Given the description of an element on the screen output the (x, y) to click on. 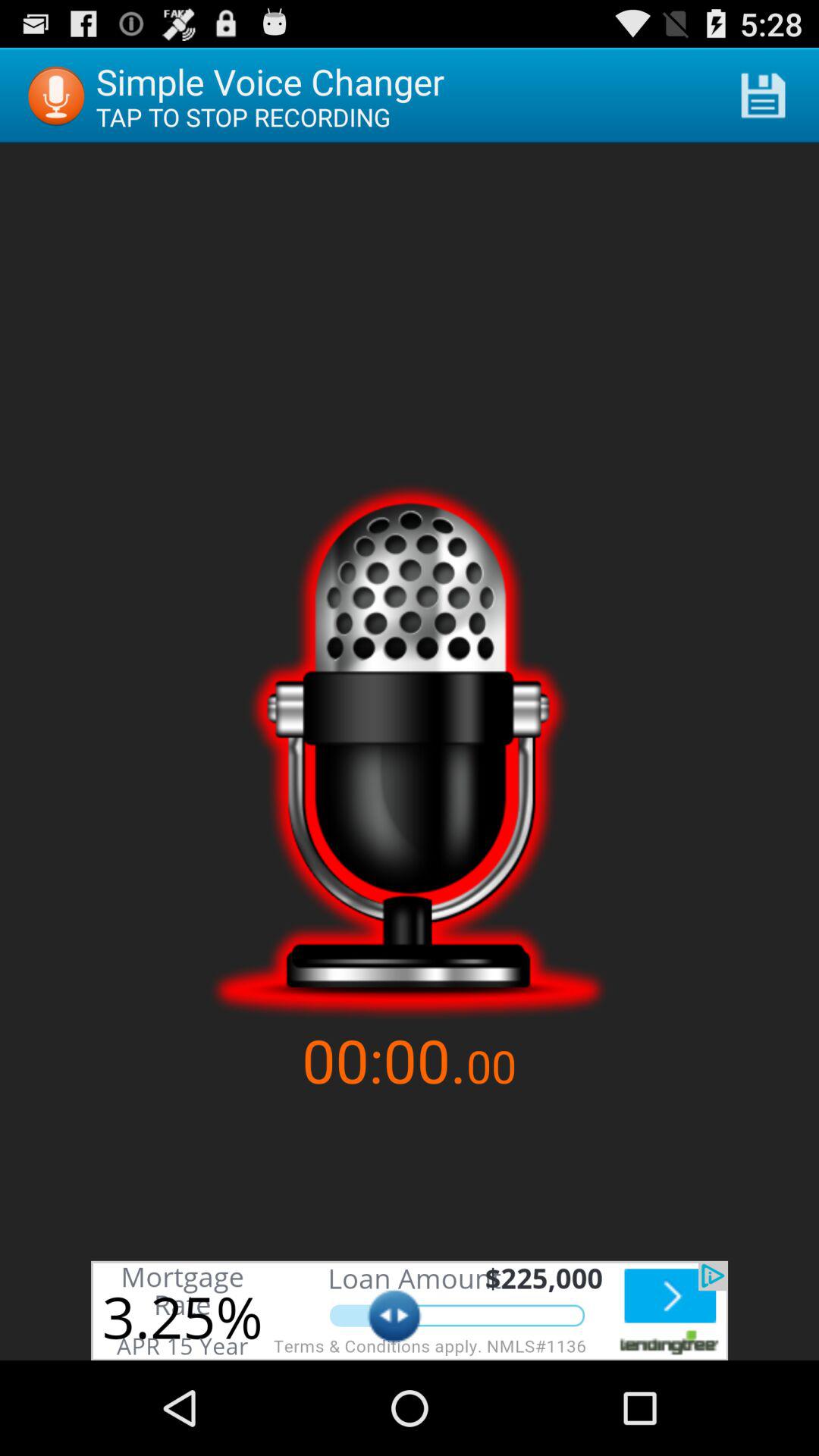
adversime (409, 1310)
